Given the description of an element on the screen output the (x, y) to click on. 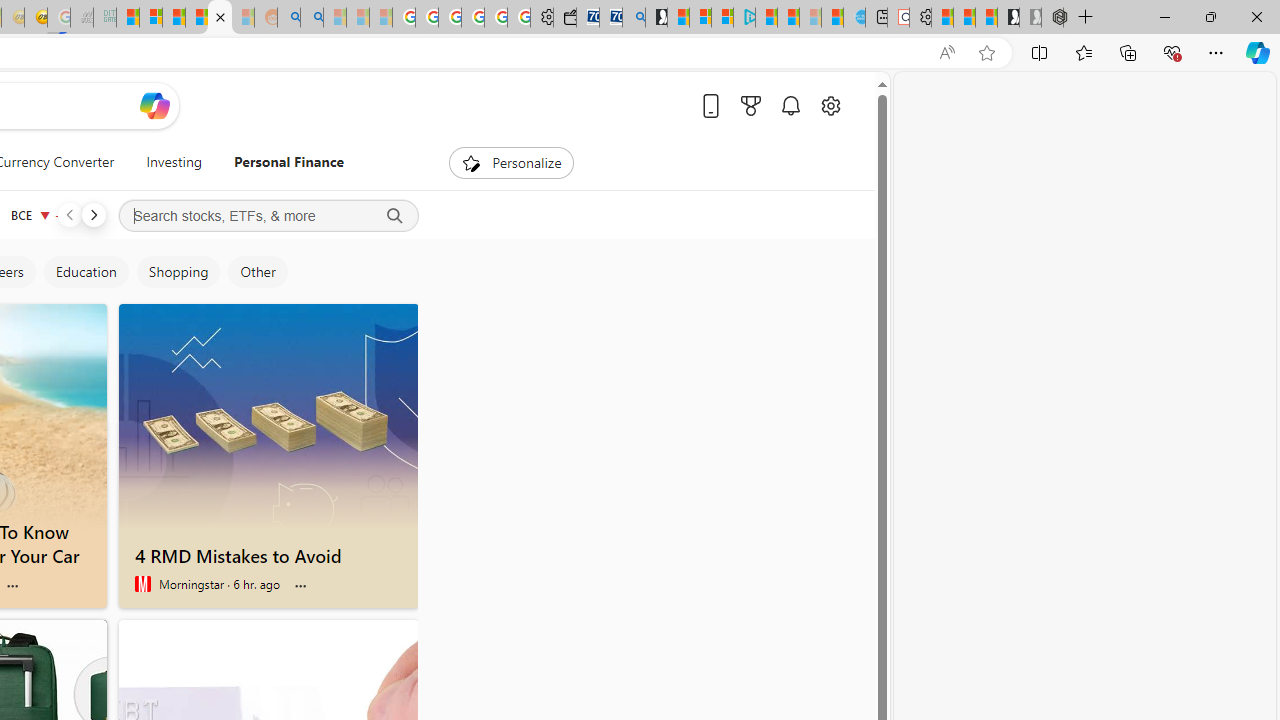
Personal Finance (289, 162)
Next (93, 214)
4 RMD Mistakes to Avoid - Morningstar (268, 552)
